Given the description of an element on the screen output the (x, y) to click on. 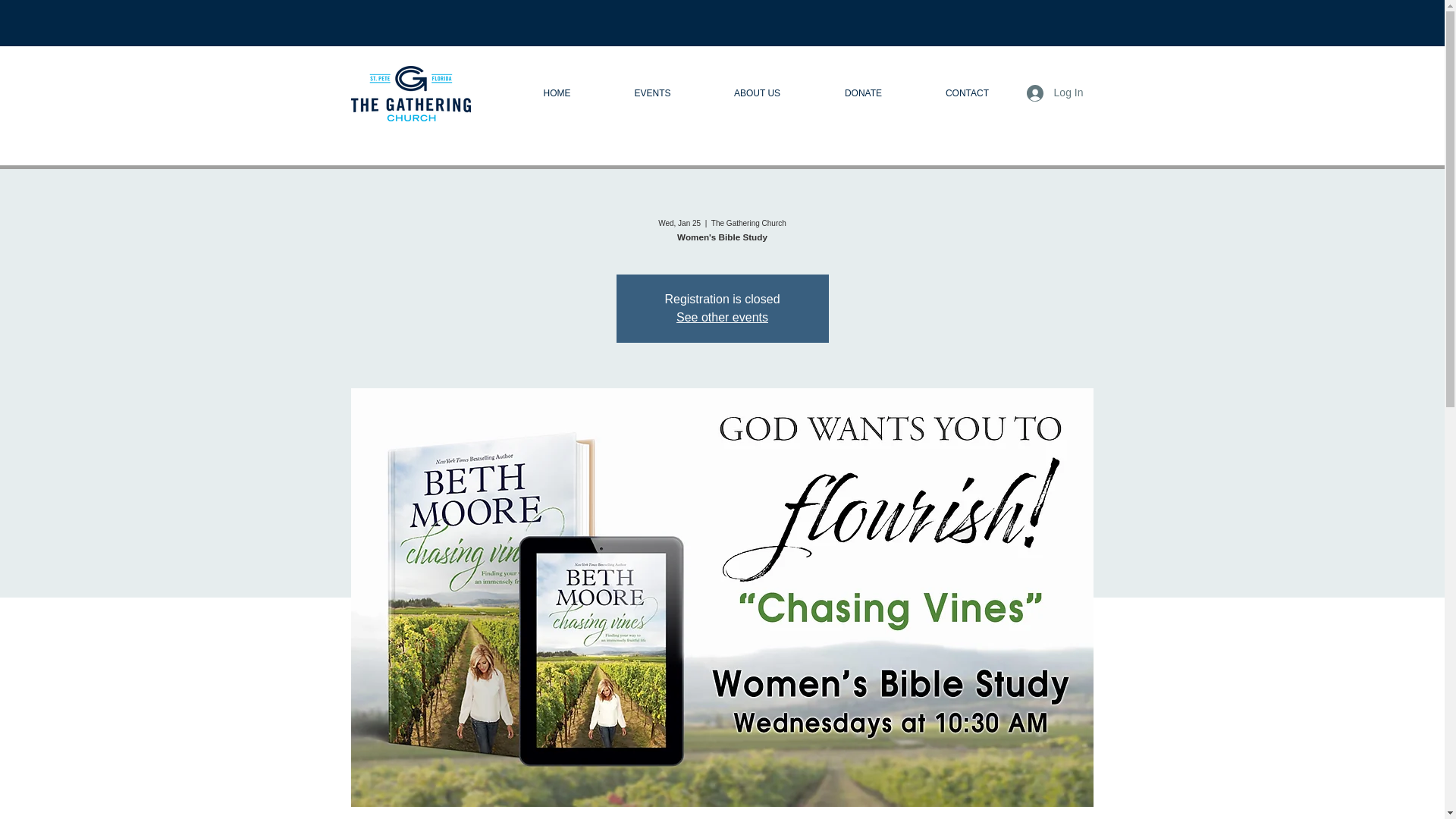
DONATE (863, 93)
See other events (722, 317)
ABOUT US (756, 93)
Log In (1055, 93)
HOME (557, 93)
CONTACT (967, 93)
EVENTS (652, 93)
